Given the description of an element on the screen output the (x, y) to click on. 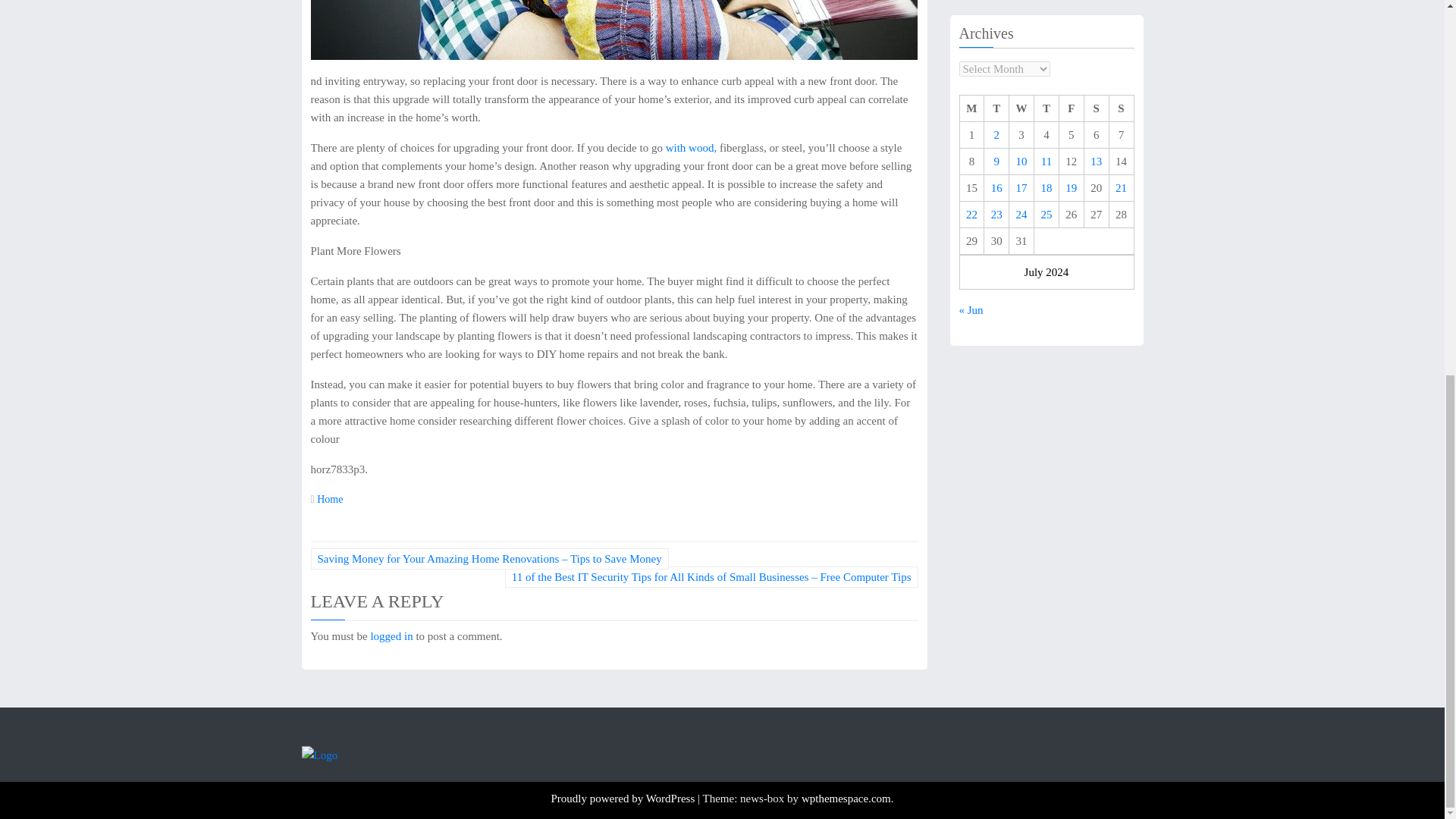
Proudly powered by WordPress (623, 798)
with wood, (691, 147)
wpthemespace.com (846, 798)
Home (329, 499)
logged in (390, 635)
